Given the description of an element on the screen output the (x, y) to click on. 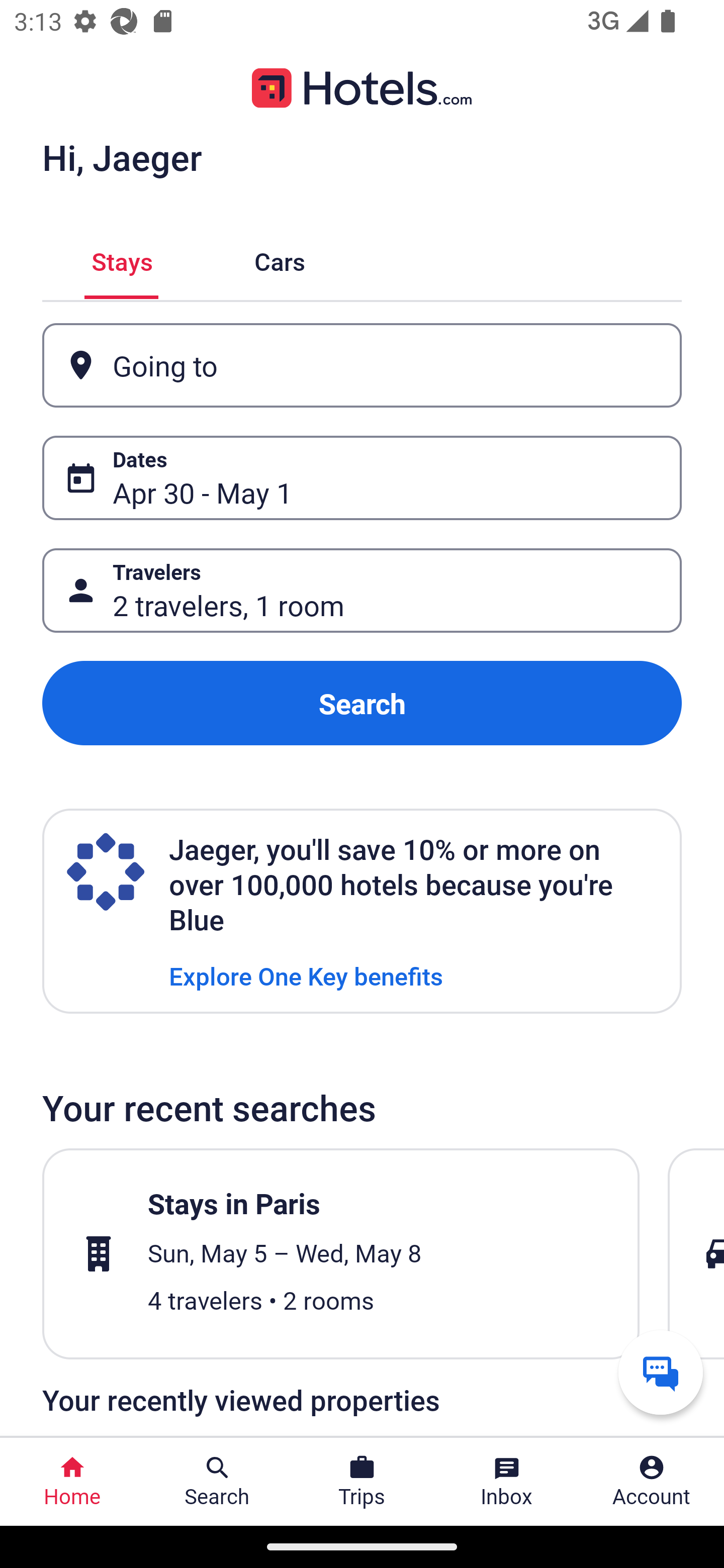
Hi, Jaeger (121, 156)
Cars (279, 259)
Going to Button (361, 365)
Dates Button Apr 30 - May 1 (361, 477)
Travelers Button 2 travelers, 1 room (361, 590)
Search (361, 702)
Get help from a virtual agent (660, 1371)
Search Search Button (216, 1481)
Trips Trips Button (361, 1481)
Inbox Inbox Button (506, 1481)
Account Profile. Button (651, 1481)
